Given the description of an element on the screen output the (x, y) to click on. 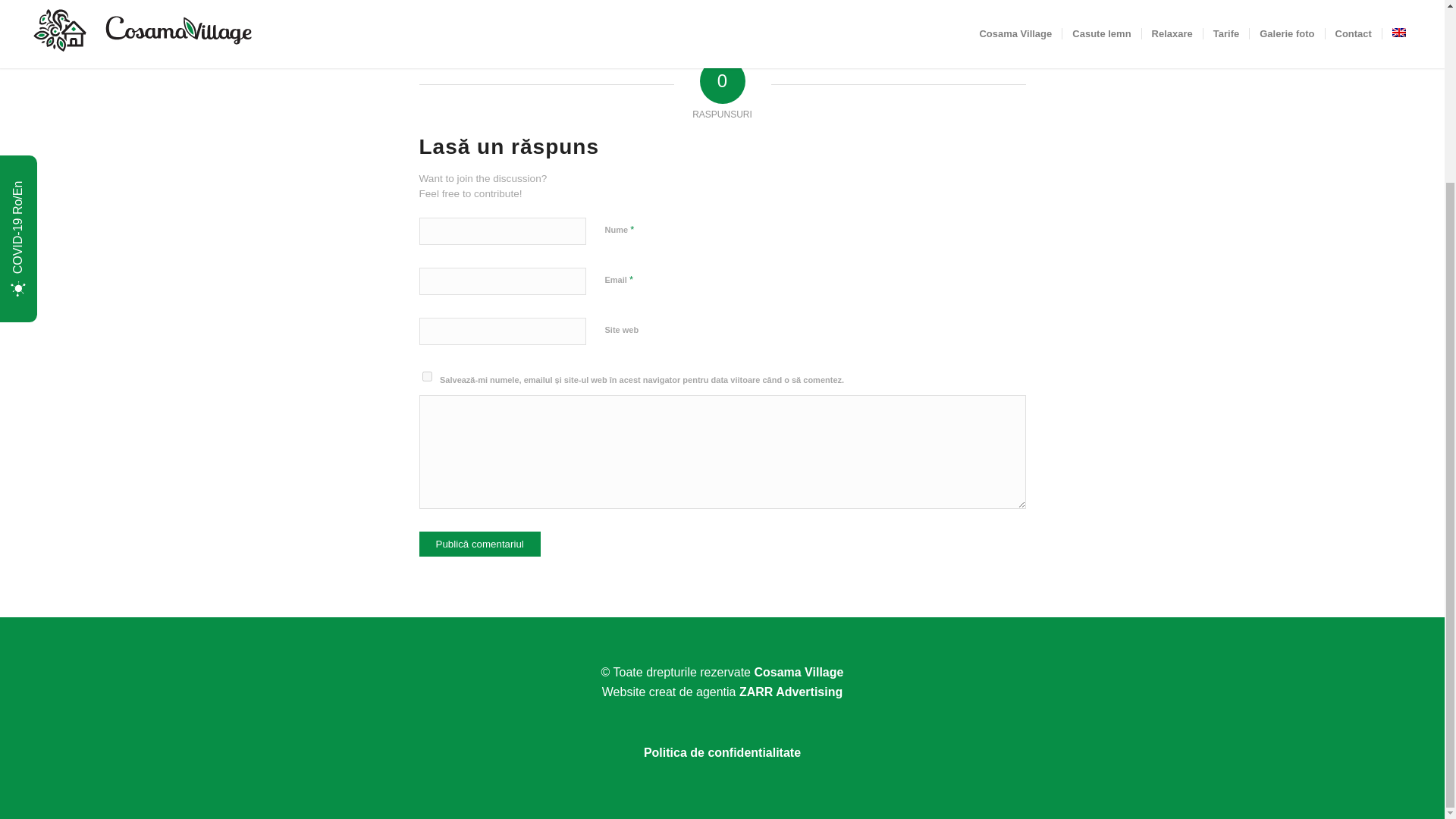
Politica de confidentialitate (721, 752)
Cosama Village (798, 671)
ZARR Advertising (791, 691)
yes (426, 376)
